Given the description of an element on the screen output the (x, y) to click on. 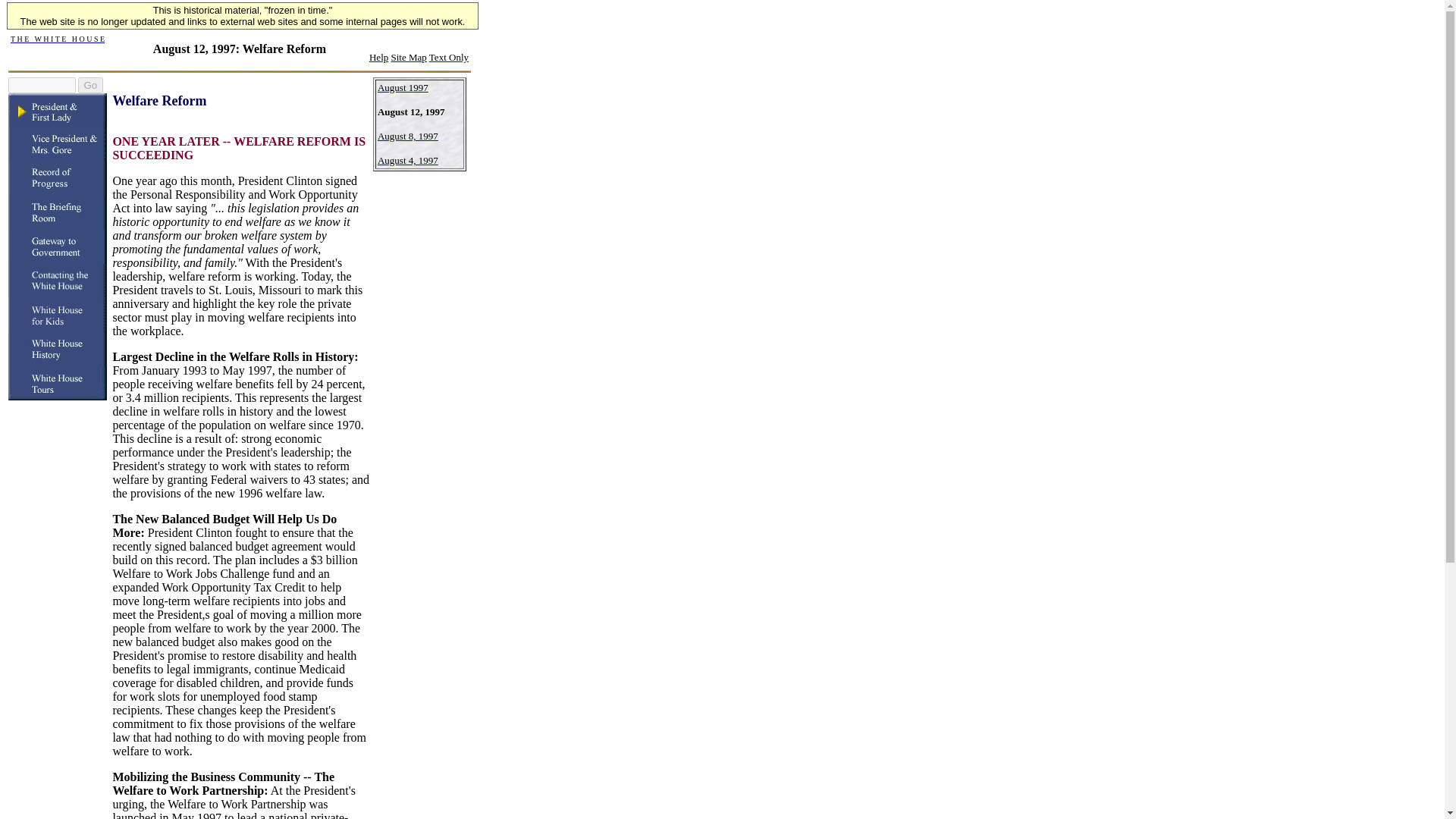
Text Only (448, 57)
August 1997 (402, 86)
August 4, 1997 (407, 159)
Site Map (408, 57)
T H E   W H I T E   H O U S E (57, 37)
Help (378, 56)
Go (90, 84)
Go (90, 84)
August 8, 1997 (407, 134)
